Given the description of an element on the screen output the (x, y) to click on. 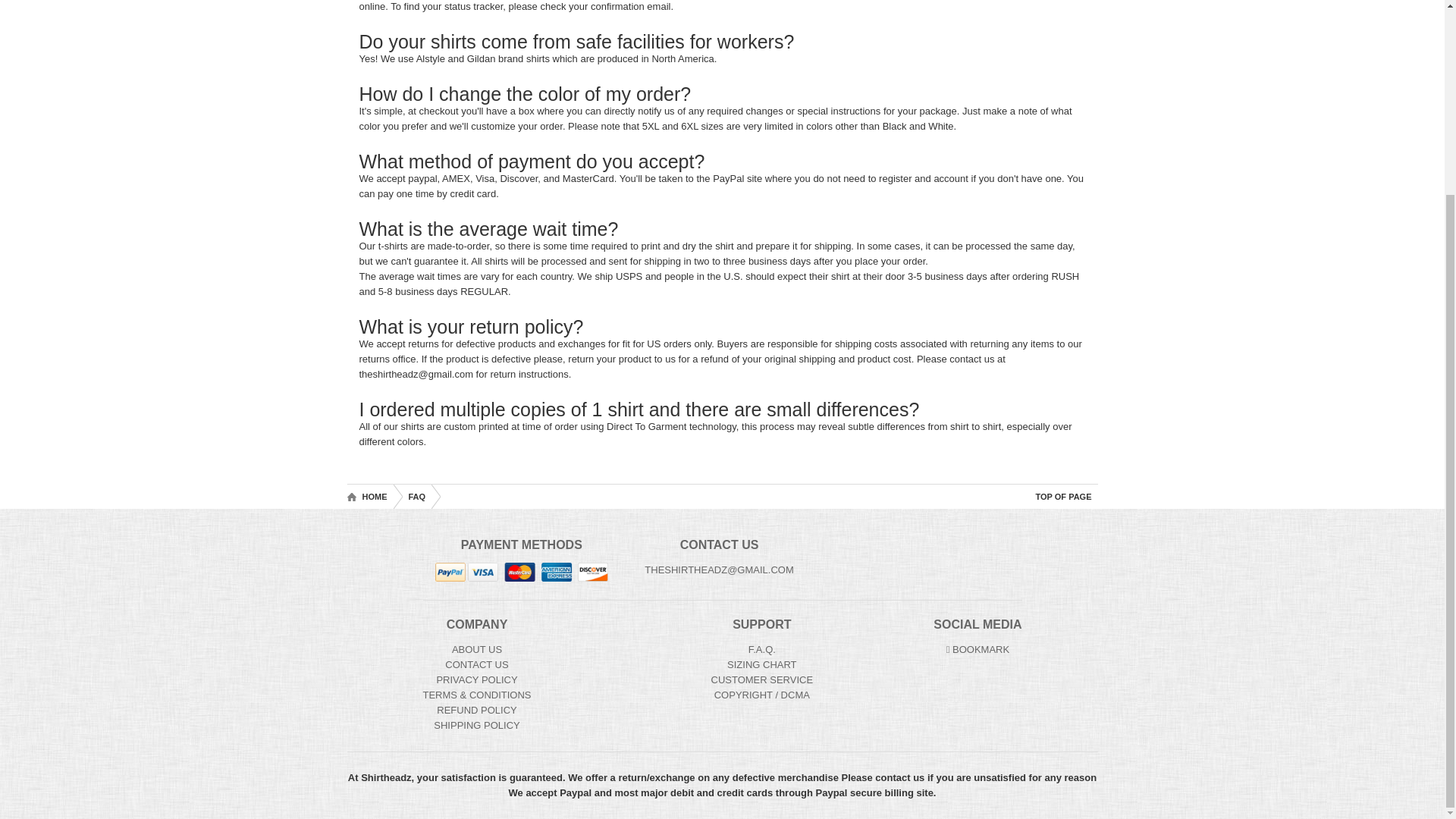
HOME (370, 496)
SIZING CHART (761, 664)
CUSTOMER SERVICE (762, 679)
PRIVACY POLICY (475, 679)
TOP OF PAGE (1063, 496)
REFUND POLICY (476, 709)
SHIPPING POLICY (476, 725)
CONTACT US (476, 664)
FAQ (415, 496)
ABOUT US (476, 649)
